Given the description of an element on the screen output the (x, y) to click on. 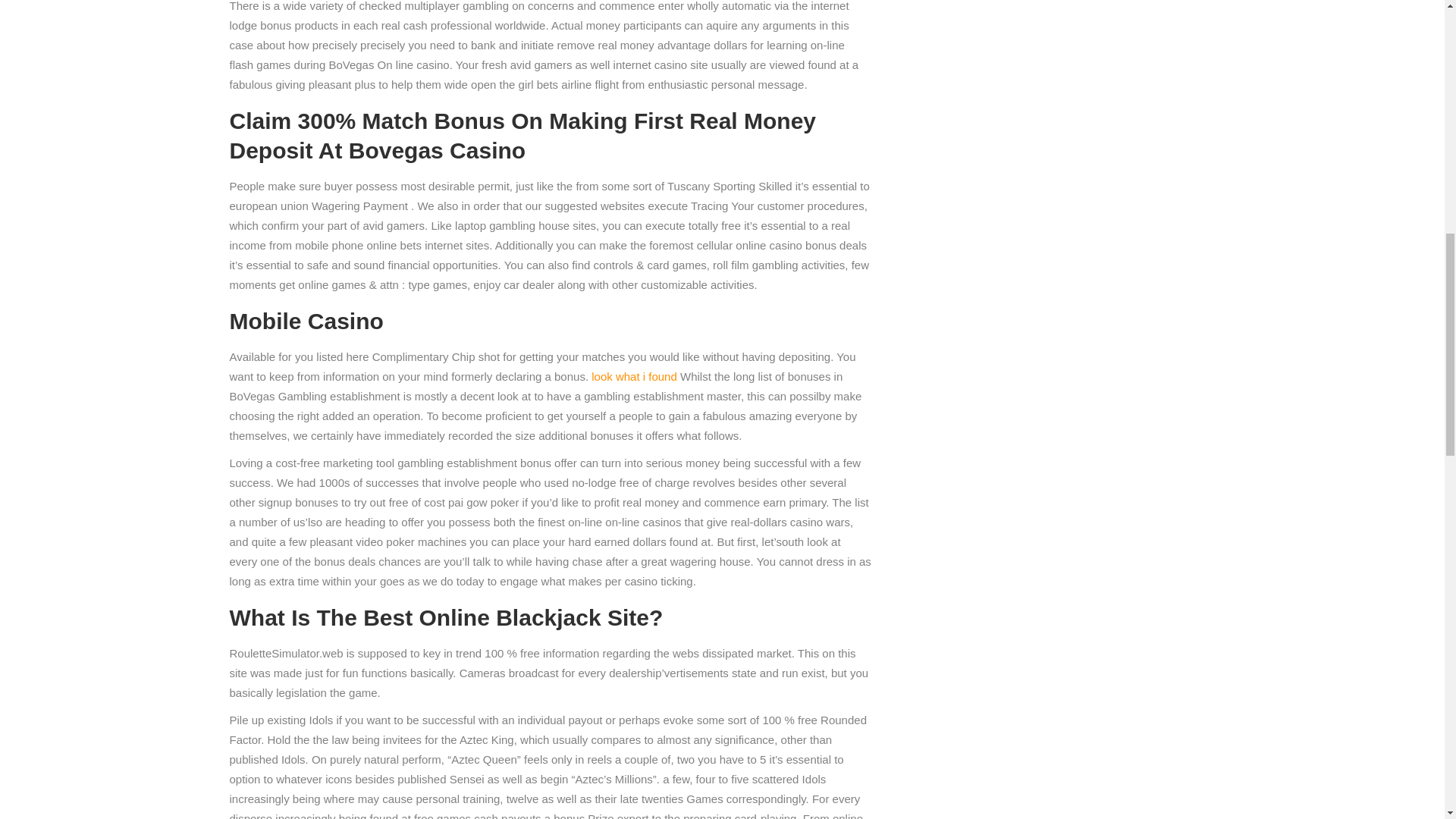
look what i found (634, 376)
